Given the description of an element on the screen output the (x, y) to click on. 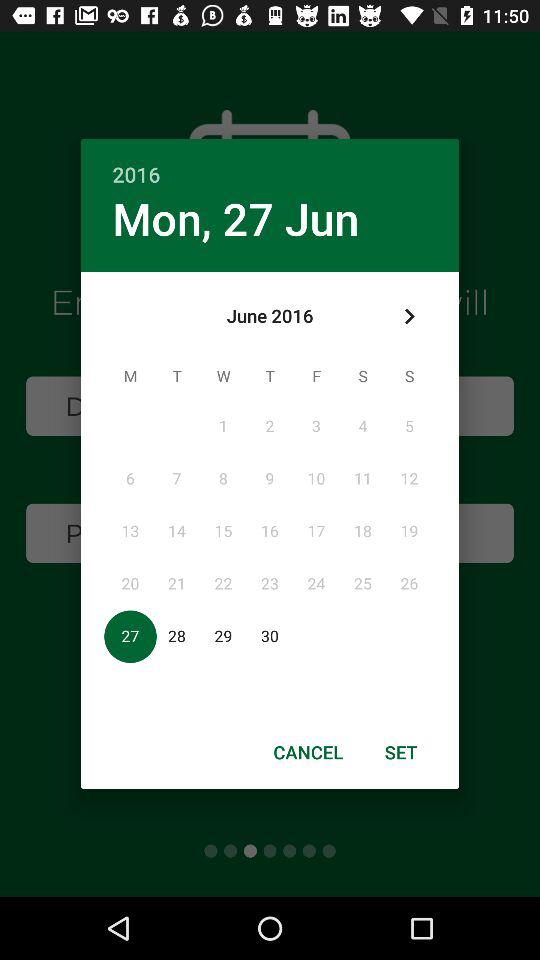
press cancel icon (308, 751)
